Given the description of an element on the screen output the (x, y) to click on. 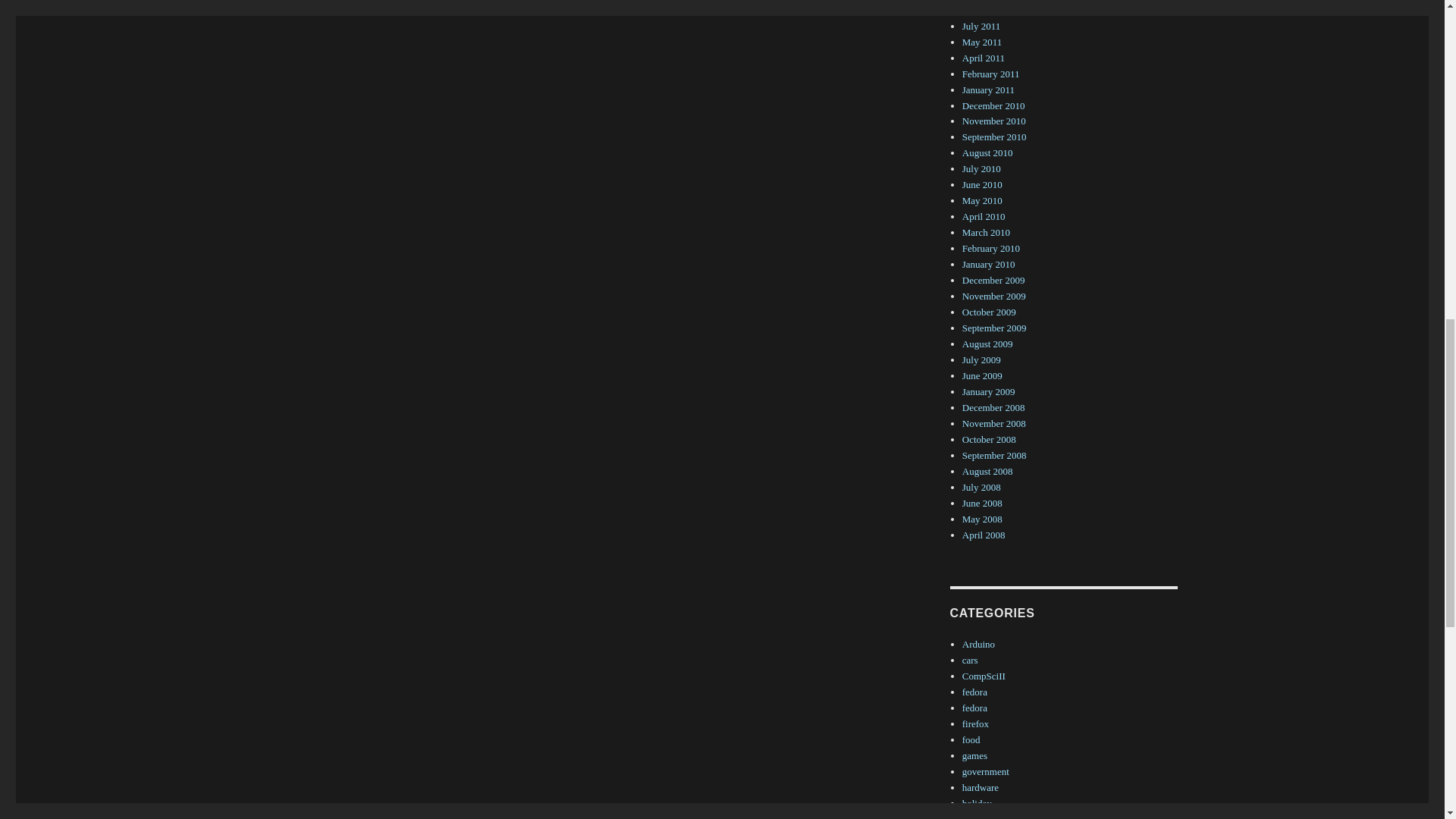
April 2011 (983, 57)
February 2011 (991, 73)
May 2011 (982, 41)
January 2011 (988, 89)
December 2010 (993, 105)
July 2011 (981, 25)
September 2011 (994, 9)
